Given the description of an element on the screen output the (x, y) to click on. 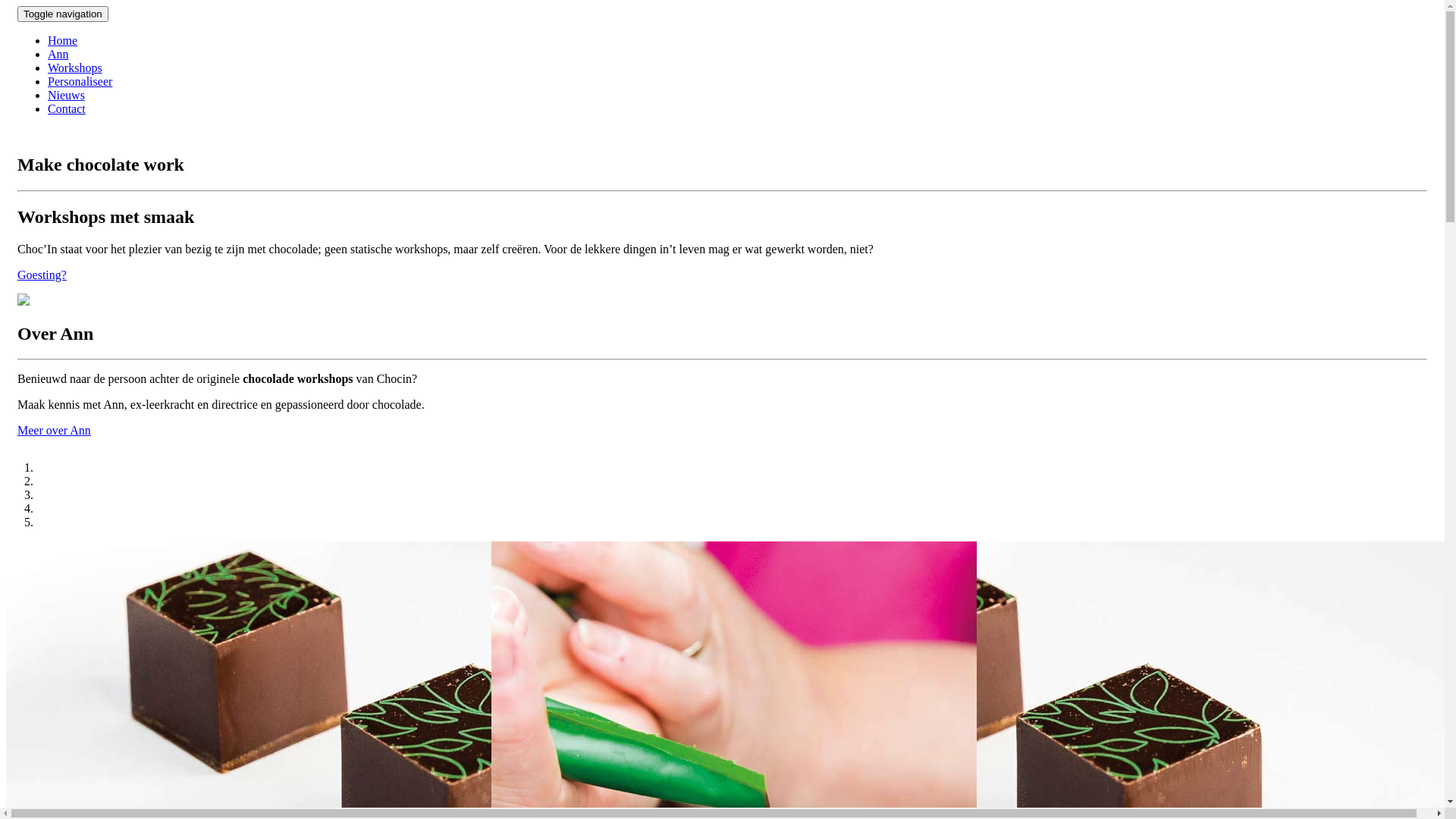
Personaliseer Element type: text (79, 81)
Meer over Ann Element type: text (54, 429)
Ann Element type: text (58, 53)
Toggle navigation Element type: text (62, 13)
Nieuws Element type: text (65, 94)
Workshops Element type: text (74, 67)
Goesting? Element type: text (41, 274)
Contact Element type: text (66, 108)
Home Element type: text (62, 40)
